Given the description of an element on the screen output the (x, y) to click on. 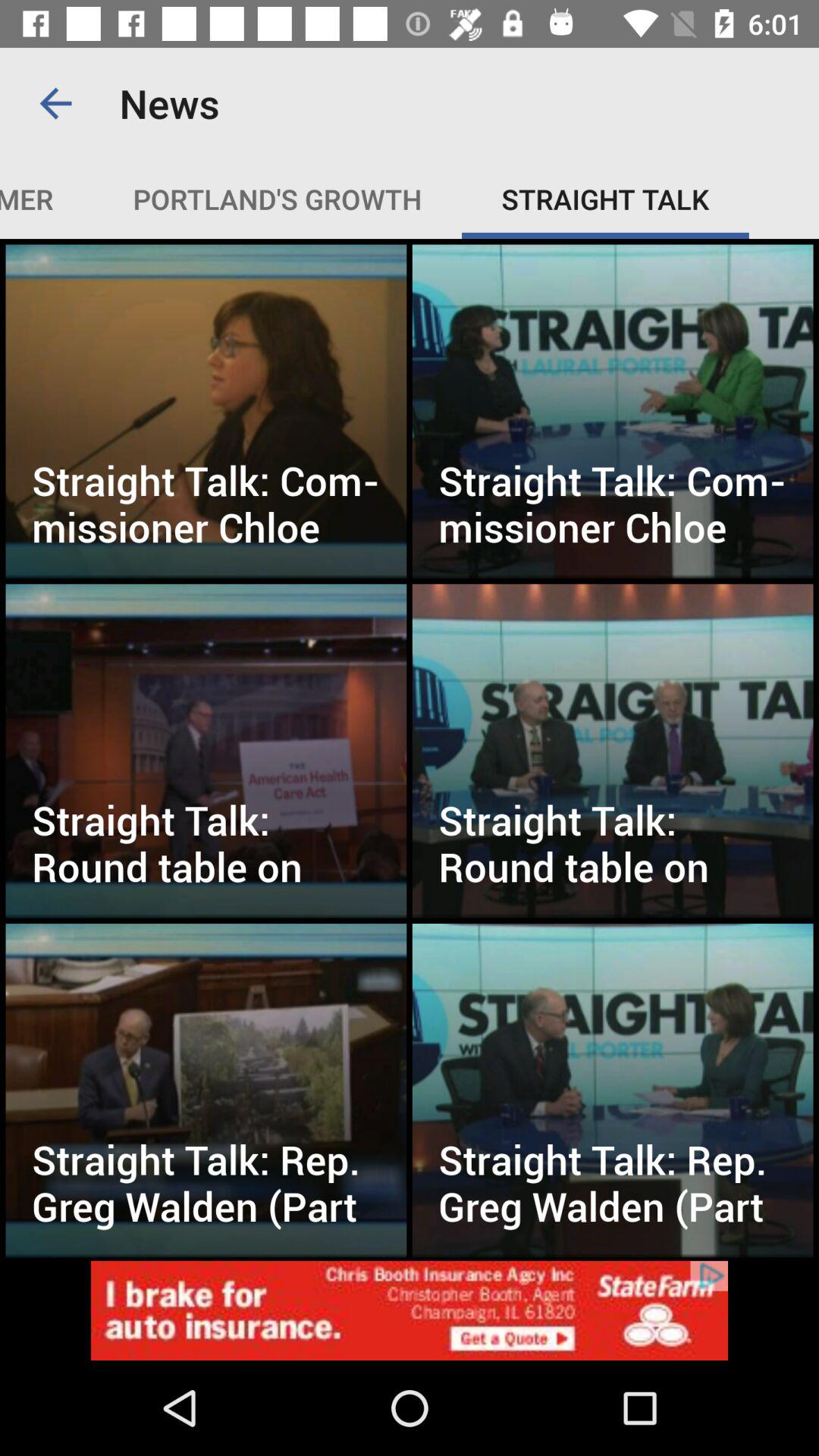
click advertisement (409, 1310)
